Given the description of an element on the screen output the (x, y) to click on. 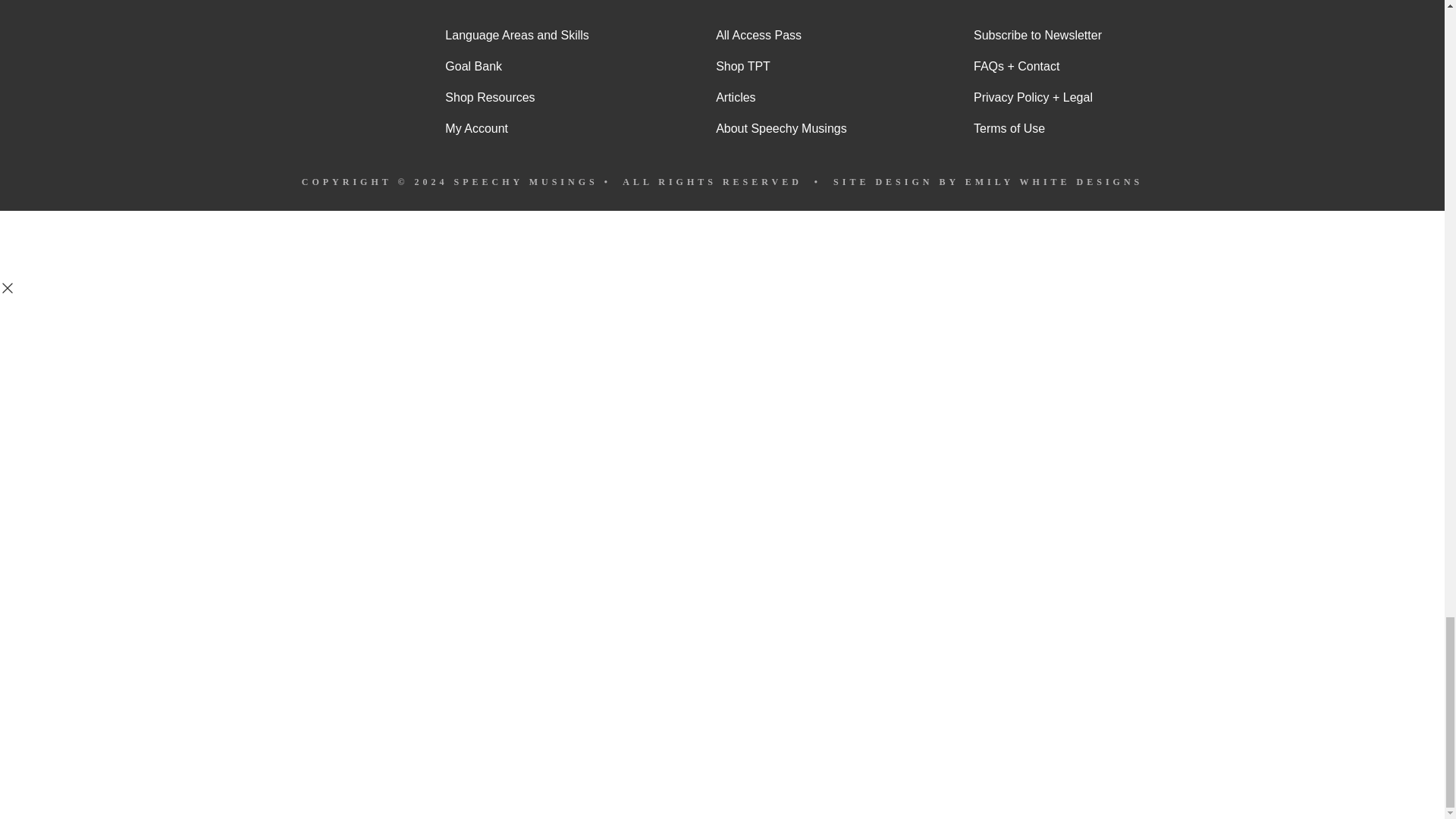
Emily White Designs (1053, 181)
Goal Bank (516, 66)
Language Areas and Skills (516, 35)
Shop TPT (781, 66)
My Account (516, 128)
About Speechy Musings (781, 128)
Articles (781, 97)
Subscribe to Newsletter (1038, 35)
EMILY WHITE DESIGNS (1053, 181)
Terms of Use (1038, 128)
